Given the description of an element on the screen output the (x, y) to click on. 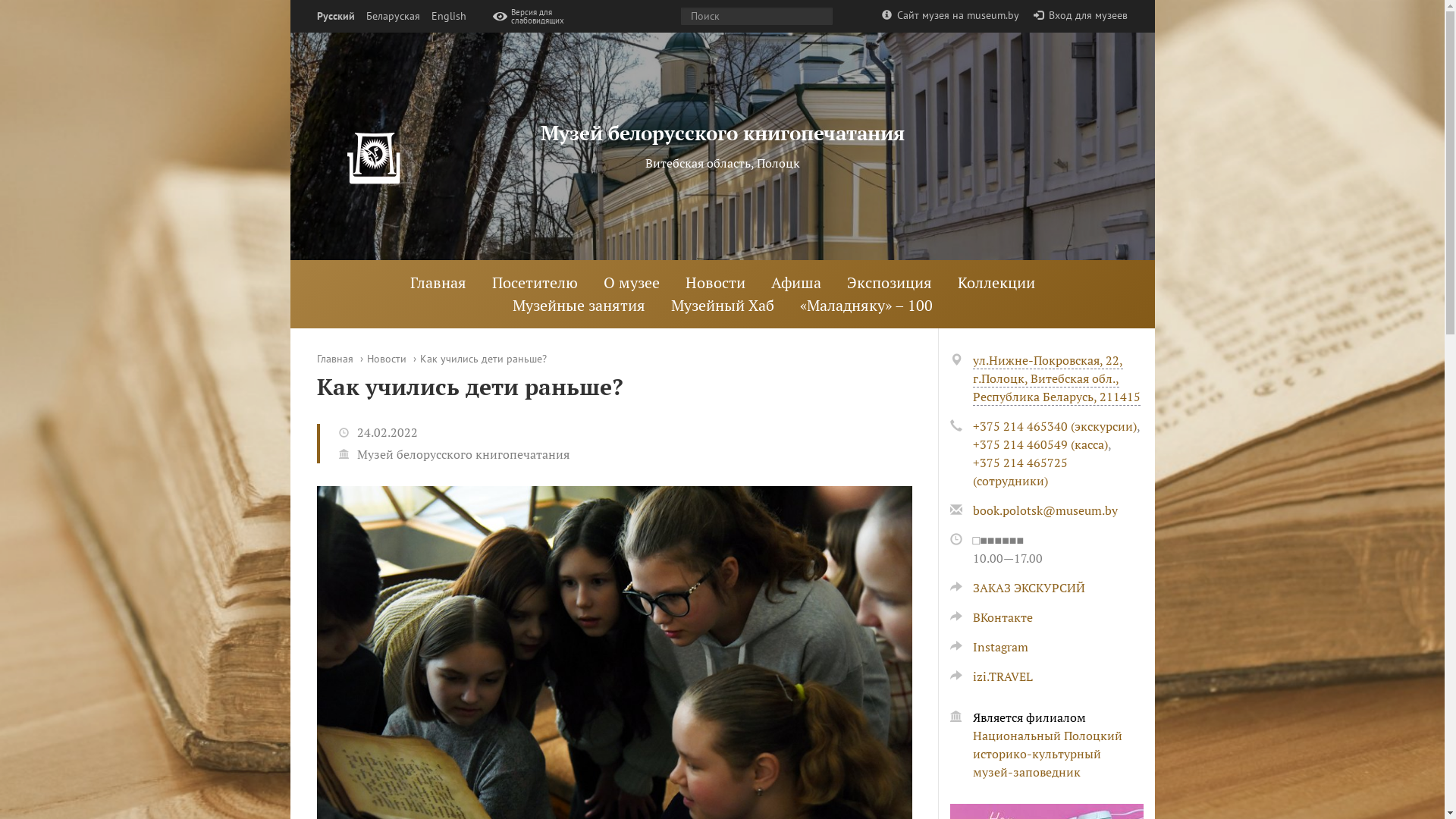
book.polotsk@museum.by Element type: text (1044, 510)
English Element type: text (447, 16)
izi.TRAVEL Element type: text (990, 676)
Instagram Element type: text (988, 646)
